Given the description of an element on the screen output the (x, y) to click on. 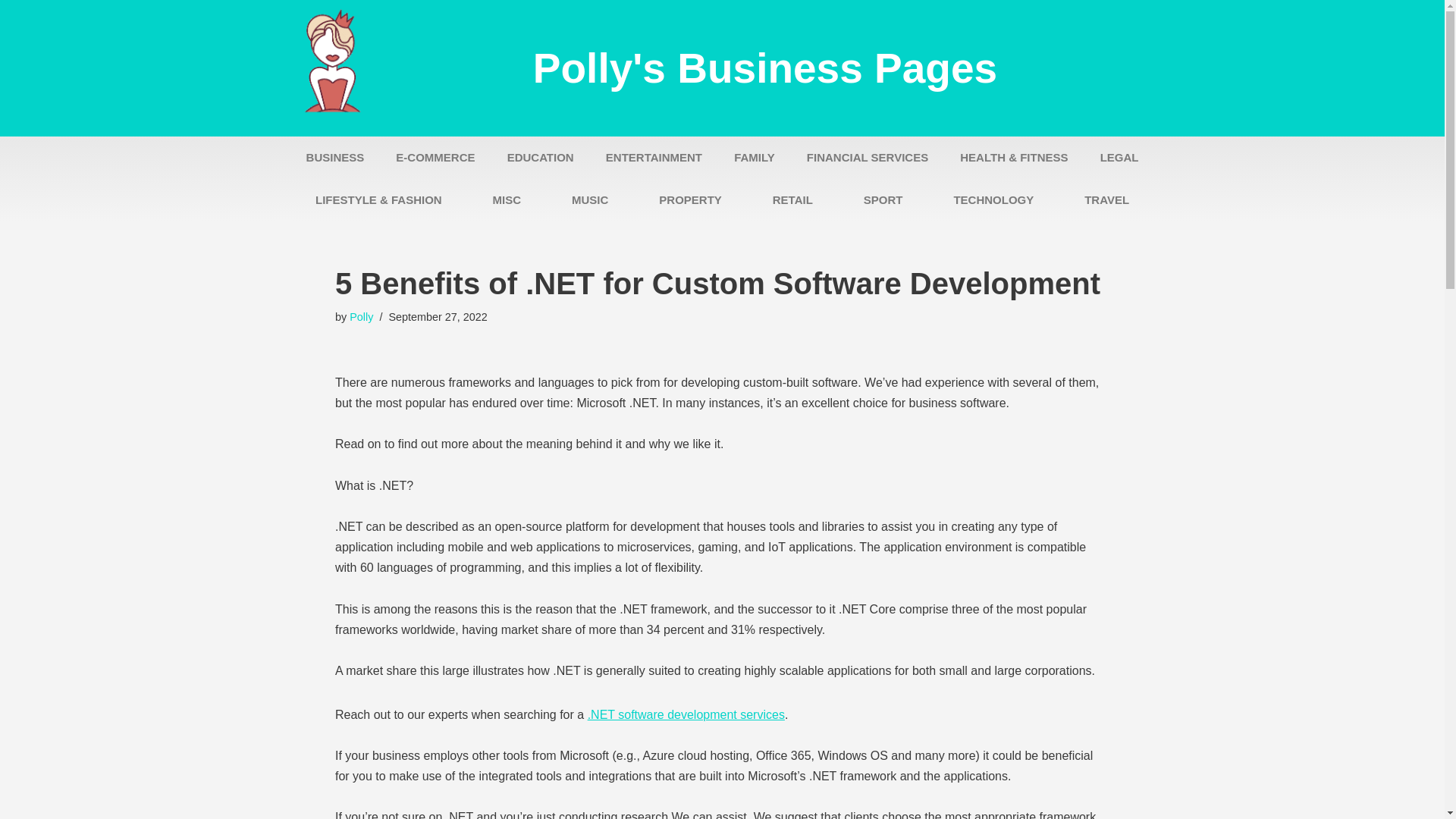
LEGAL (1119, 157)
RETAIL (792, 200)
BUSINESS (334, 157)
TRAVEL (1106, 200)
FINANCIAL SERVICES (866, 157)
Skip to content (11, 31)
MUSIC (590, 200)
Posts by Polly (360, 316)
MISC (506, 200)
.NET software development services (686, 714)
